Given the description of an element on the screen output the (x, y) to click on. 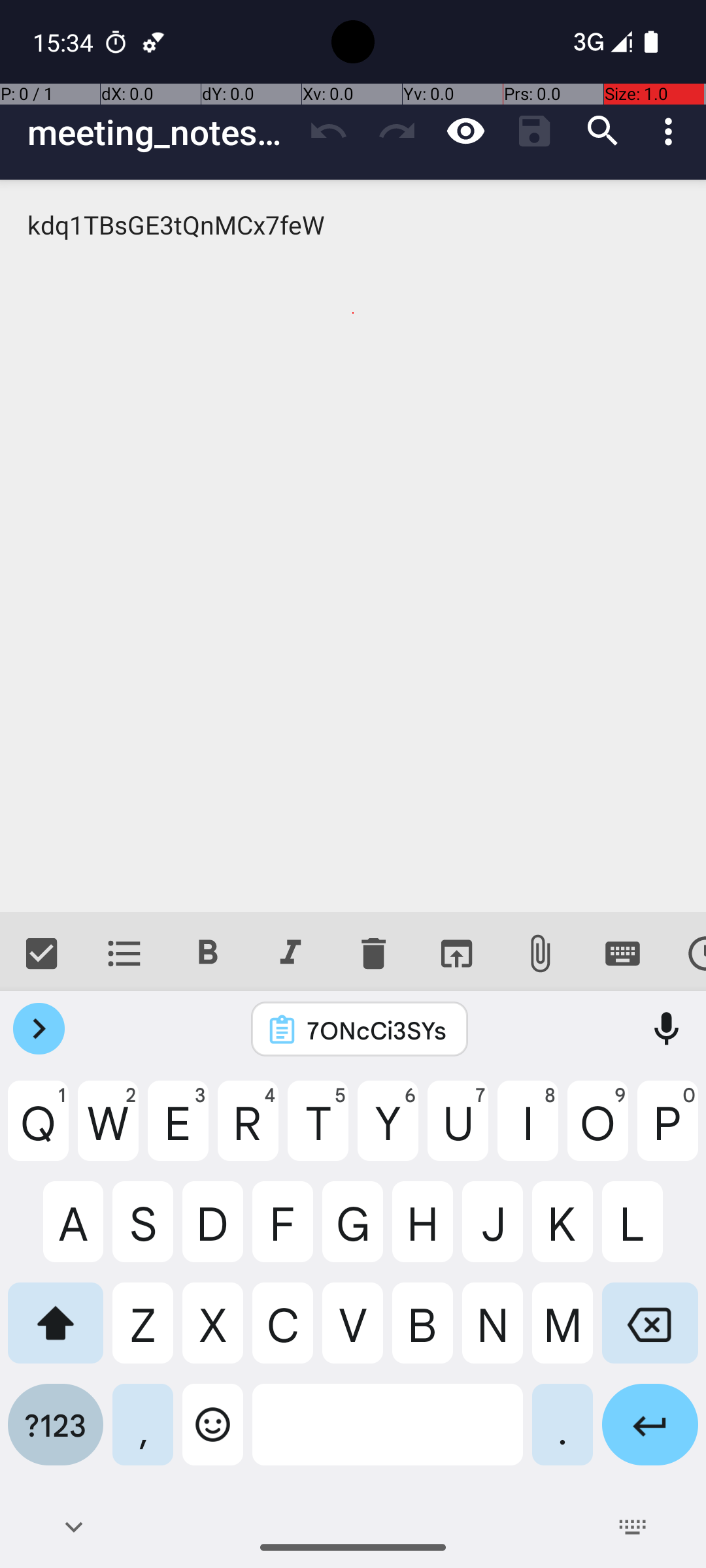
meeting_notes_project_team_N052 Element type: android.widget.TextView (160, 131)
kdq1TBsGE3tQnMCx7feW
 Element type: android.widget.EditText (353, 545)
7ONcCi3SYs Element type: android.widget.TextView (376, 1029)
